Given the description of an element on the screen output the (x, y) to click on. 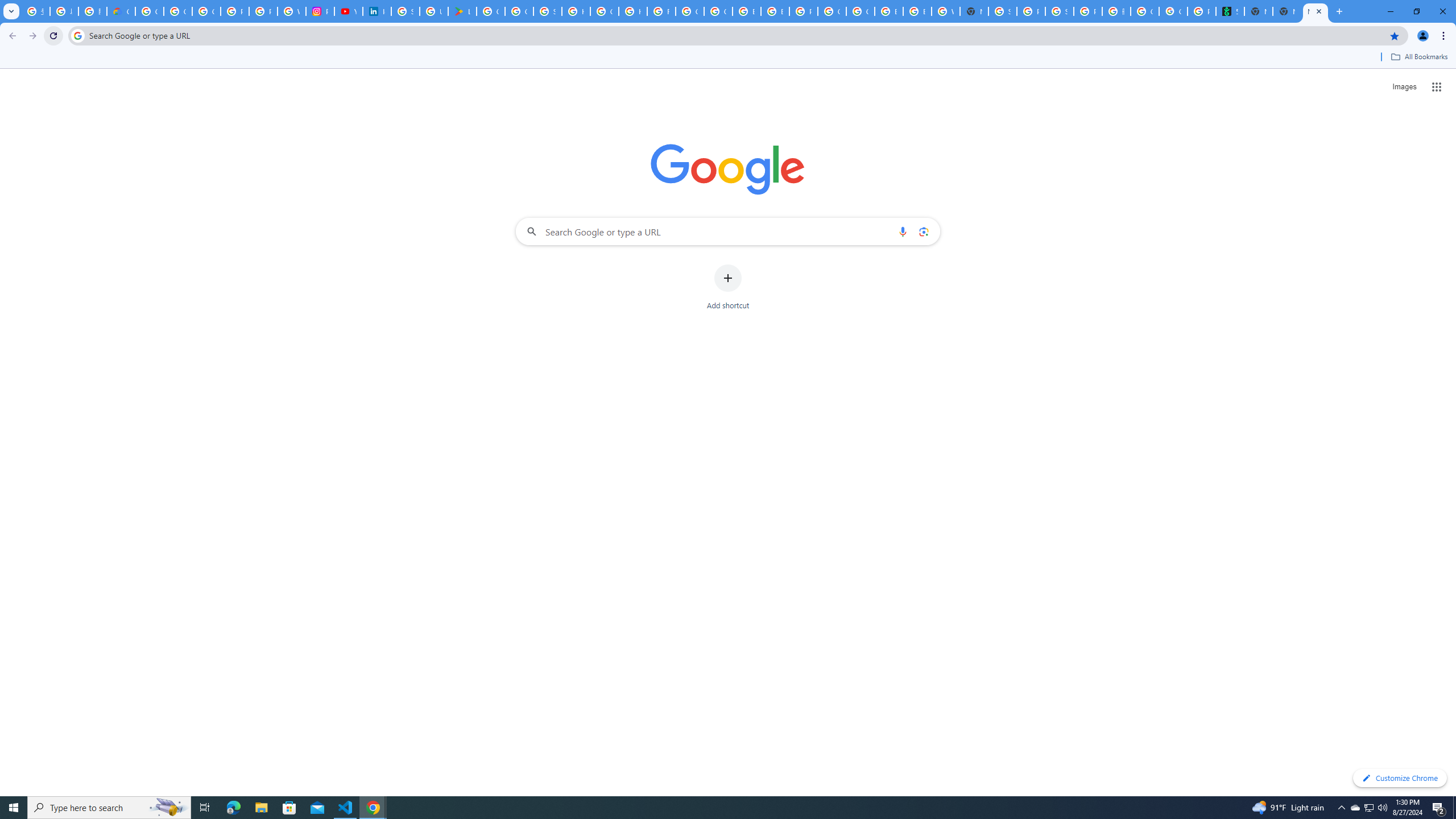
Browse Chrome as a guest - Computer - Google Chrome Help (888, 11)
New Tab (1287, 11)
Privacy Help Center - Policies Help (263, 11)
Search icon (77, 35)
Sign in - Google Accounts (405, 11)
